Given the description of an element on the screen output the (x, y) to click on. 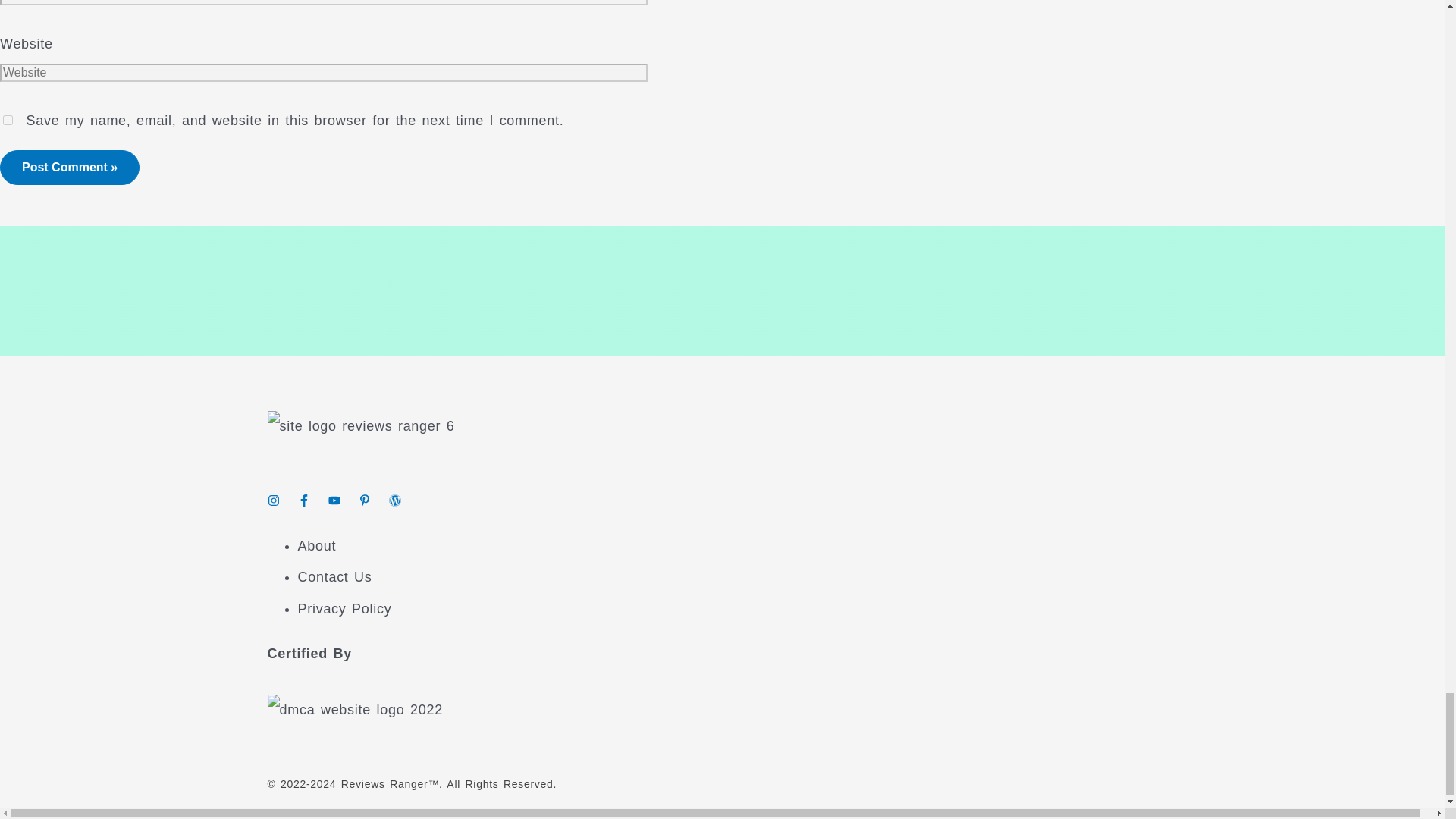
yes (7, 120)
